Given the description of an element on the screen output the (x, y) to click on. 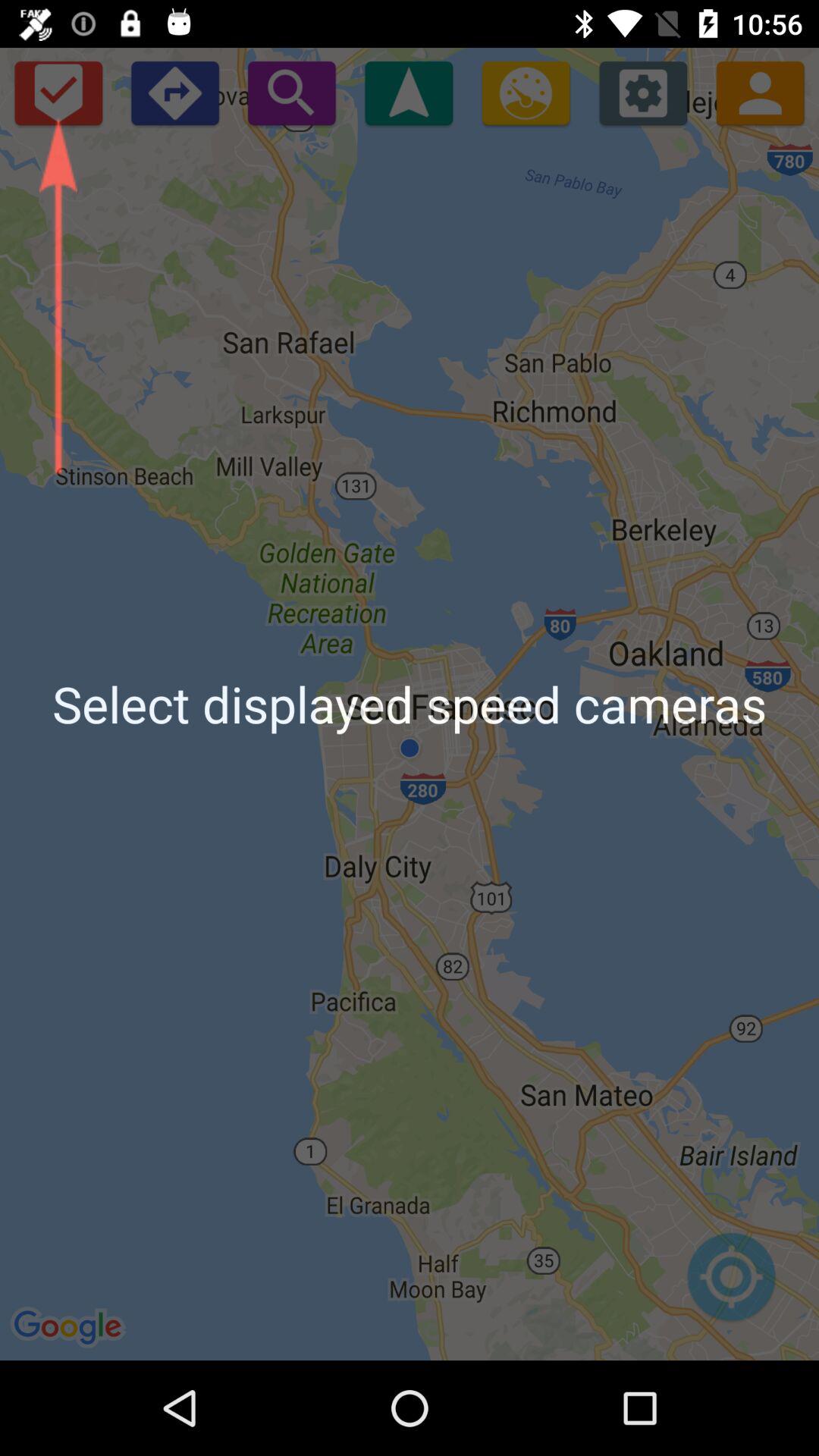
click the item at the bottom right corner (731, 1284)
